Given the description of an element on the screen output the (x, y) to click on. 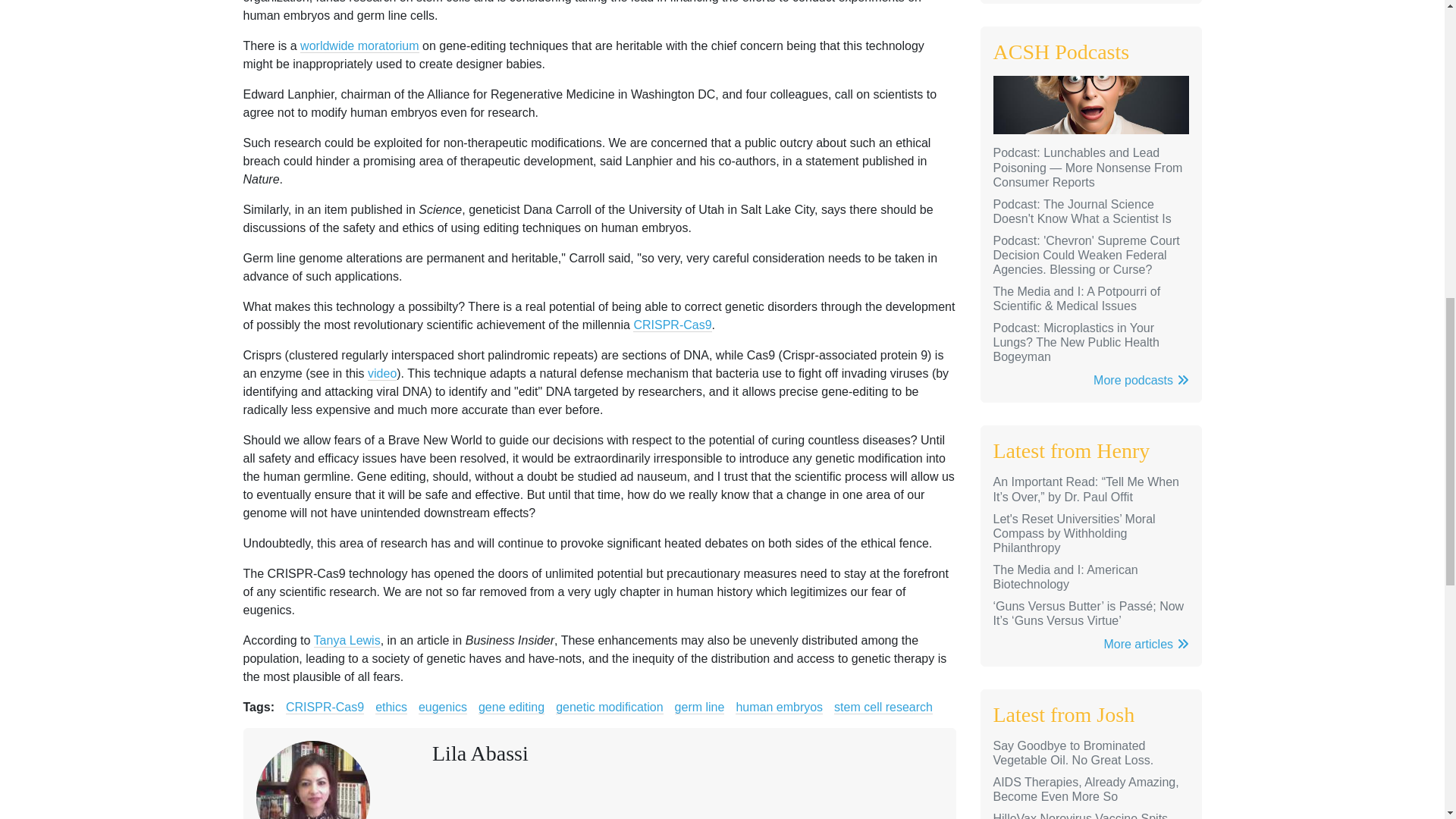
CRISPR-Cas9 (672, 325)
worldwide moratorium (359, 46)
video (382, 373)
Tanya Lewis (347, 640)
